Given the description of an element on the screen output the (x, y) to click on. 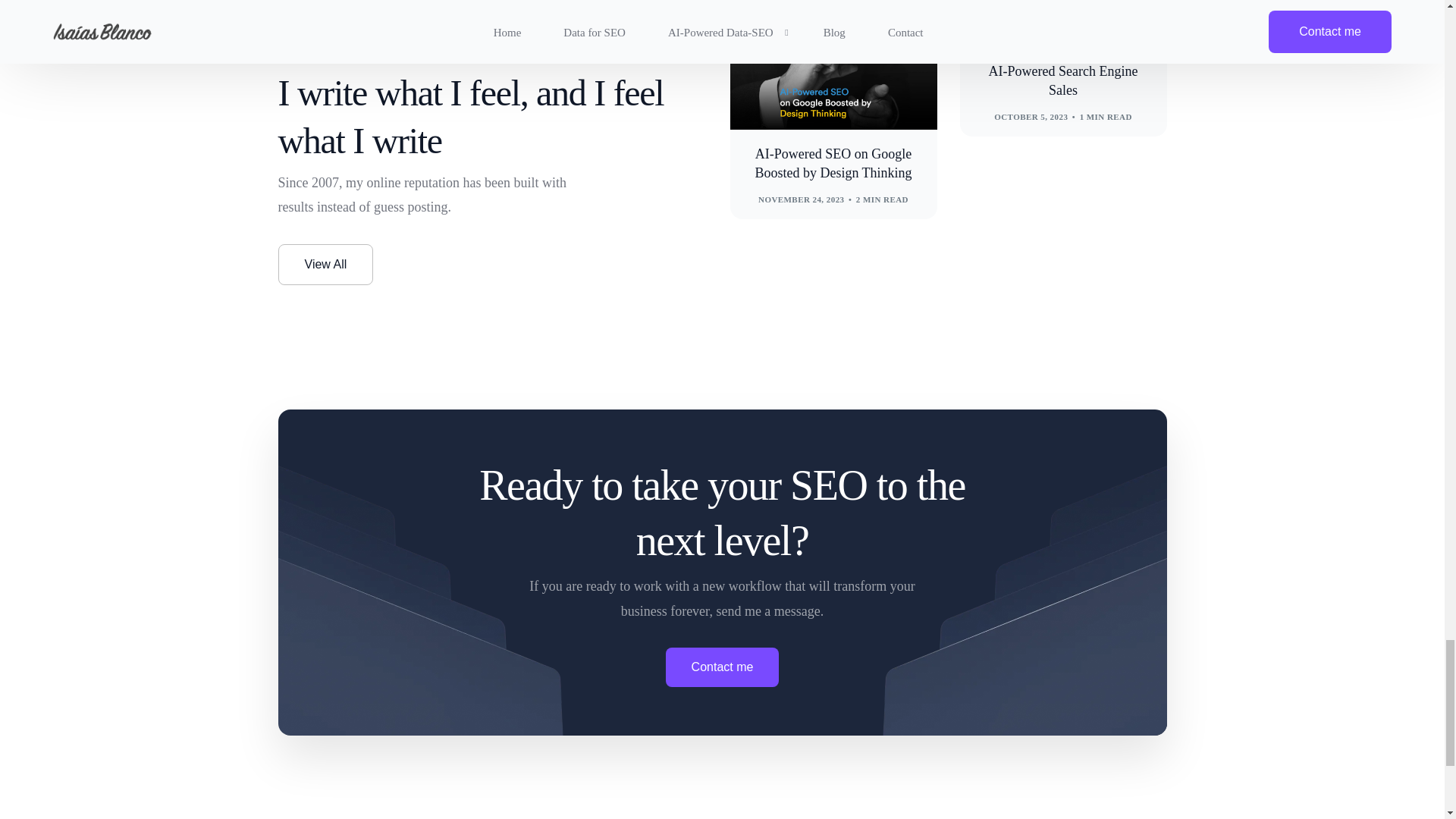
Contact me (721, 667)
View Post: AI-Powered Search Engine Sales  (1063, 80)
AI-Powered Search Engine Sales (1063, 80)
View All (325, 264)
AI-Powered SEO on Google Boosted by Design Thinking (833, 163)
